Given the description of an element on the screen output the (x, y) to click on. 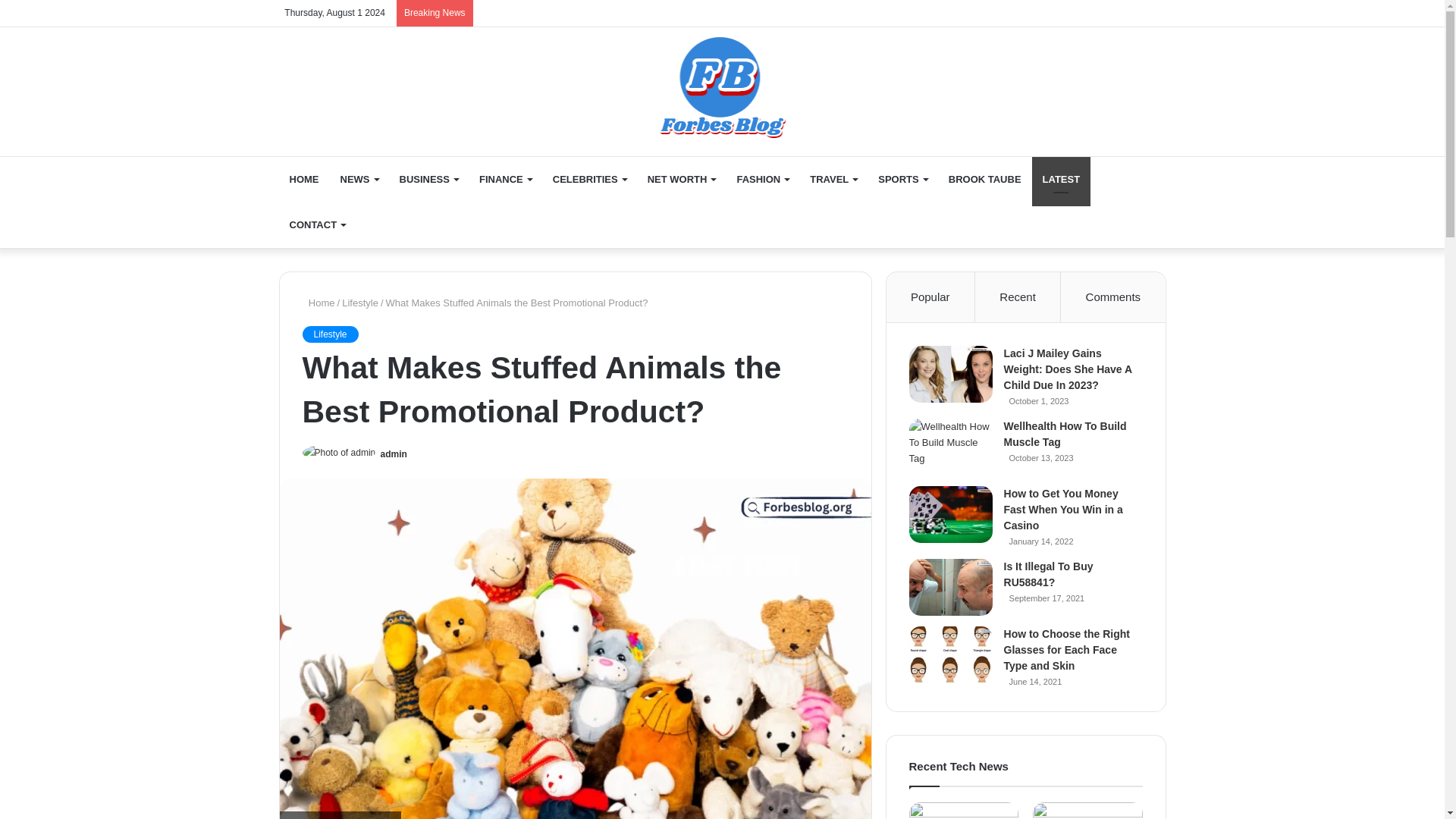
Home (317, 302)
HOME (304, 179)
Lifestyle (329, 334)
TRAVEL (833, 179)
CELEBRITIES (589, 179)
CONTACT (317, 225)
SPORTS (902, 179)
BROOK TAUBE (984, 179)
FINANCE (504, 179)
Home (722, 83)
